Given the description of an element on the screen output the (x, y) to click on. 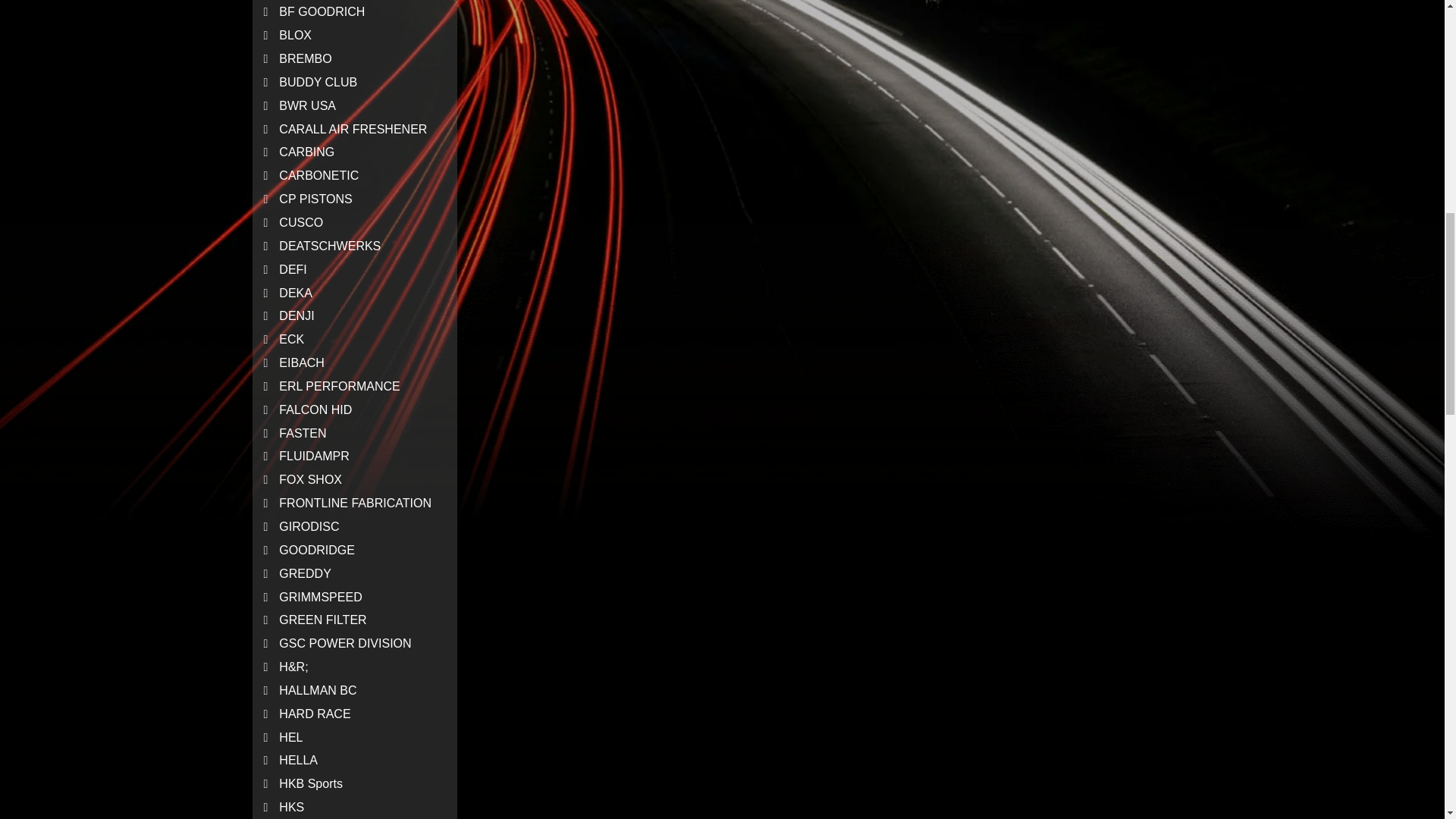
CARALL AIR FRESHENER (354, 129)
CARBING (354, 152)
BWR USA (354, 106)
BUDDY CLUB (354, 82)
BREMBO (354, 58)
BF GOODRICH (354, 12)
BLOX (354, 36)
